Given the description of an element on the screen output the (x, y) to click on. 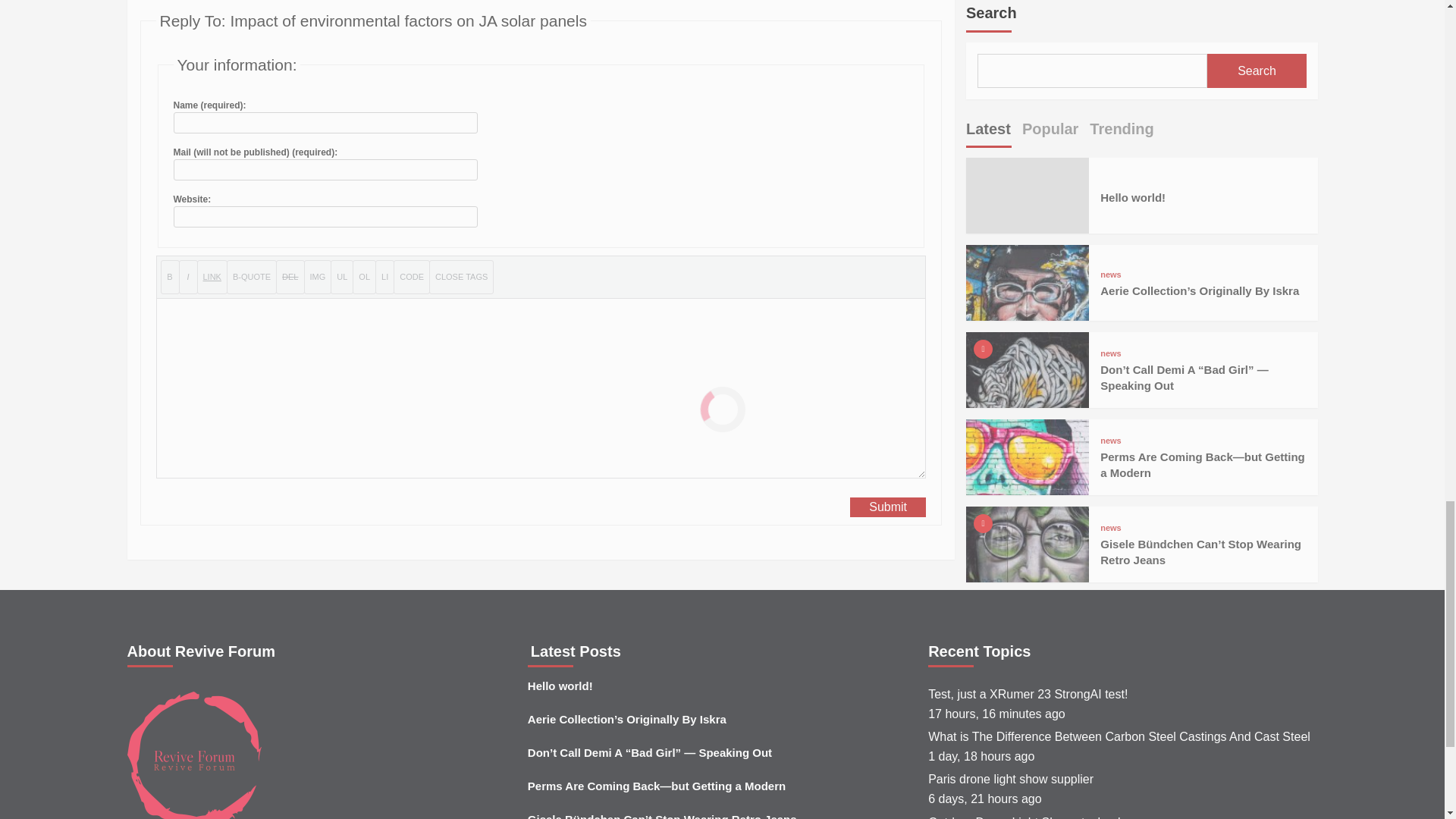
close tags (461, 277)
code (411, 277)
Close all open tags (461, 277)
b-quote (251, 277)
